Given the description of an element on the screen output the (x, y) to click on. 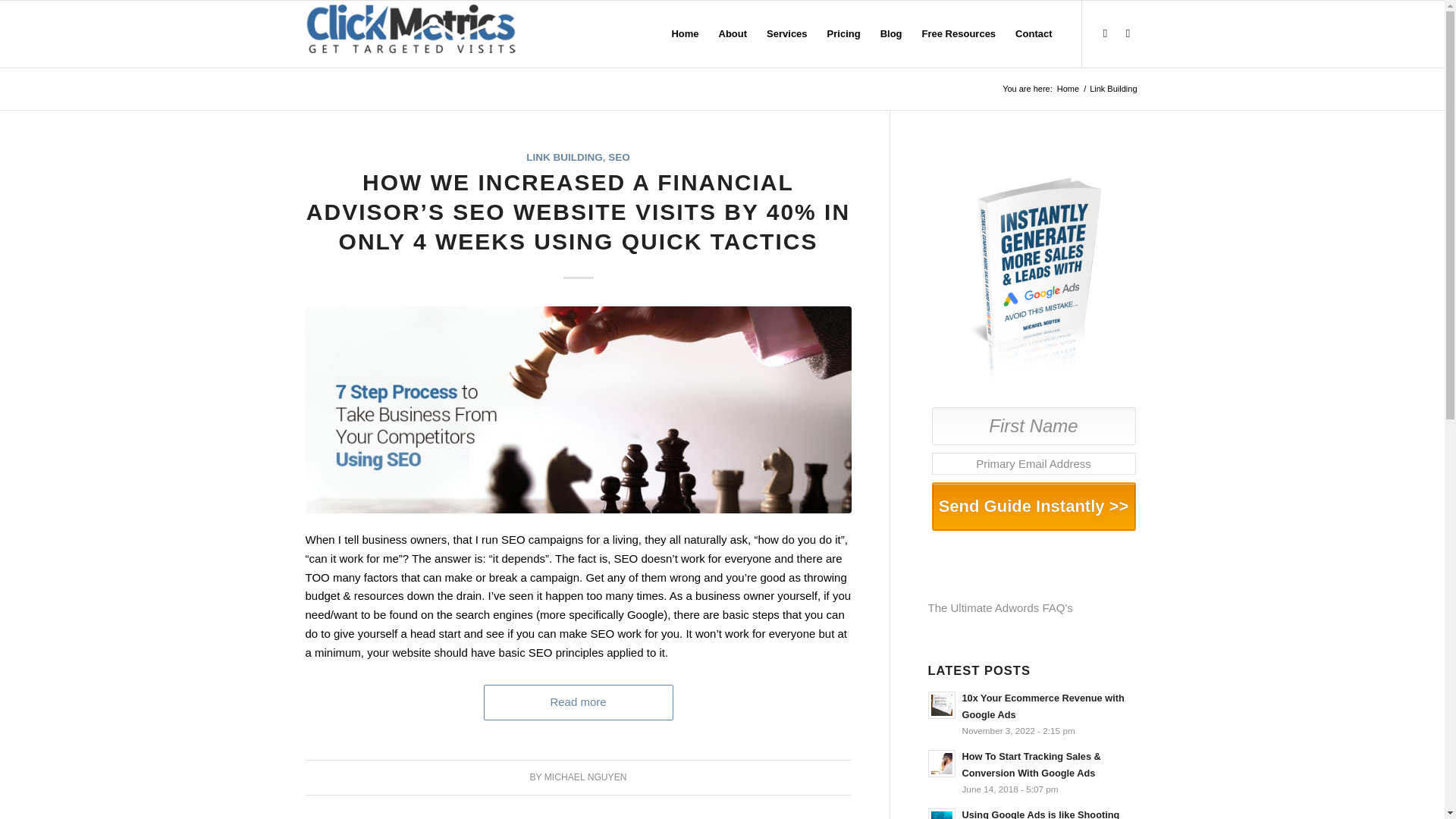
10x Your Ecommerce Revenue with Google Ads (1034, 713)
LINK BUILDING (563, 156)
Facebook (1104, 33)
7 Step Proces (577, 410)
Free Resources (959, 33)
Services (786, 33)
Using Google Ads is like Shooting Fish in a Barrel (1034, 812)
The Ultimate Adwords FAQ's (1000, 607)
